Given the description of an element on the screen output the (x, y) to click on. 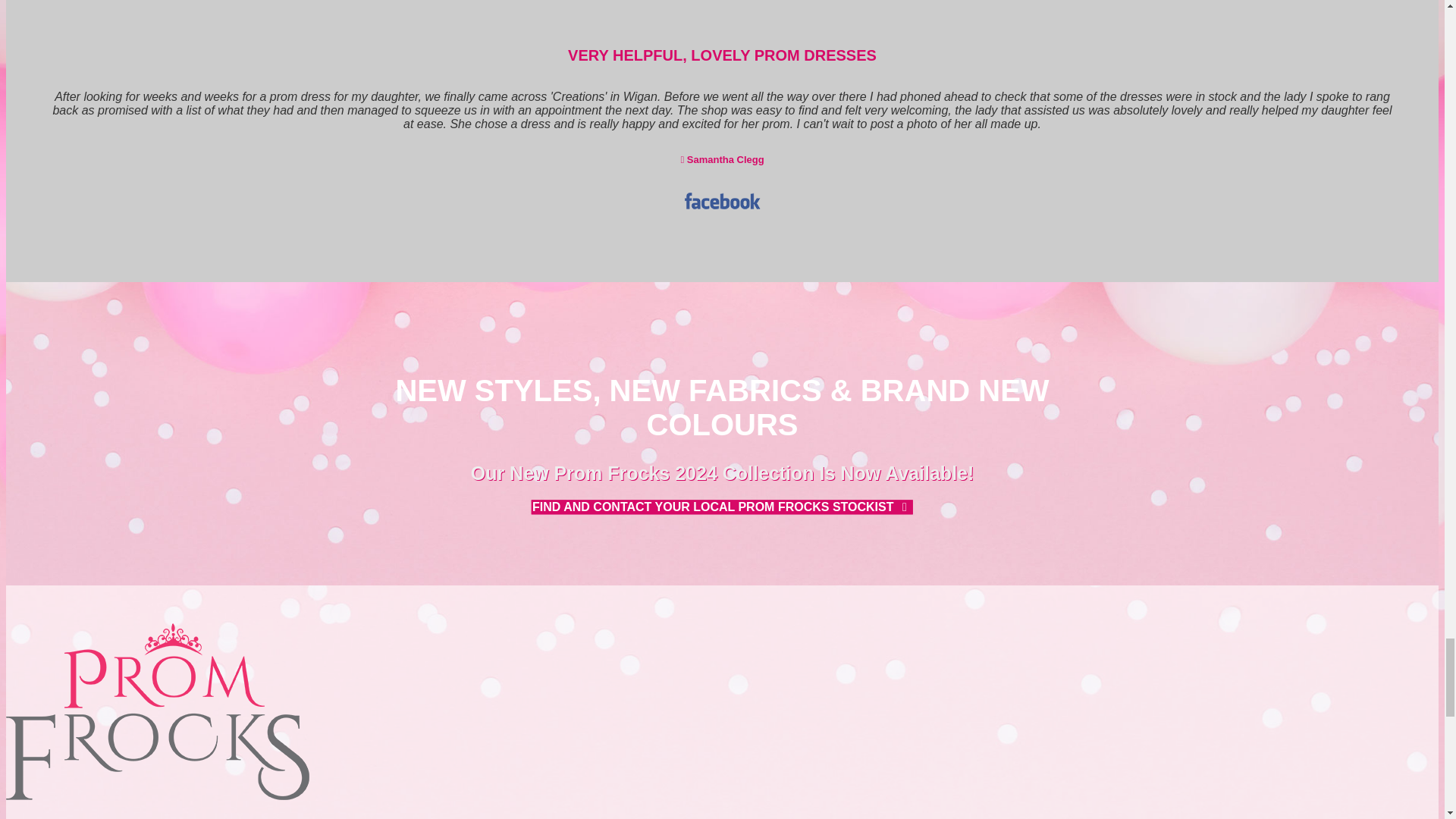
FIND AND CONTACT YOUR LOCAL PROM FROCKS STOCKIST (721, 506)
